Given the description of an element on the screen output the (x, y) to click on. 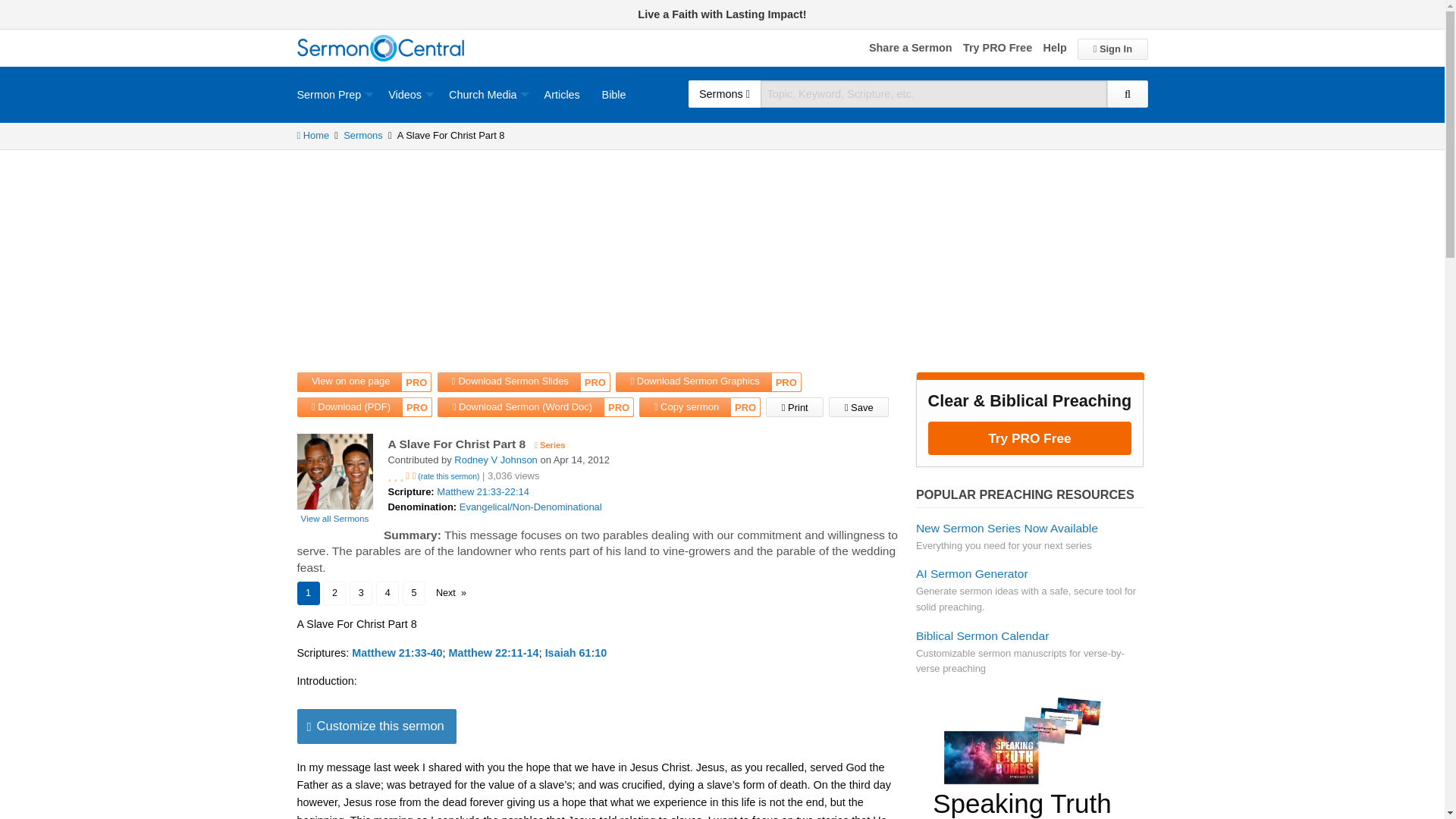
Bible (614, 94)
Articles (561, 94)
Sign In (1112, 48)
Videos (407, 94)
Try PRO Free (997, 48)
SermonCentral.com (380, 48)
Sermon Prep (337, 94)
Share a Sermon (910, 48)
Church Media (486, 94)
